Given the description of an element on the screen output the (x, y) to click on. 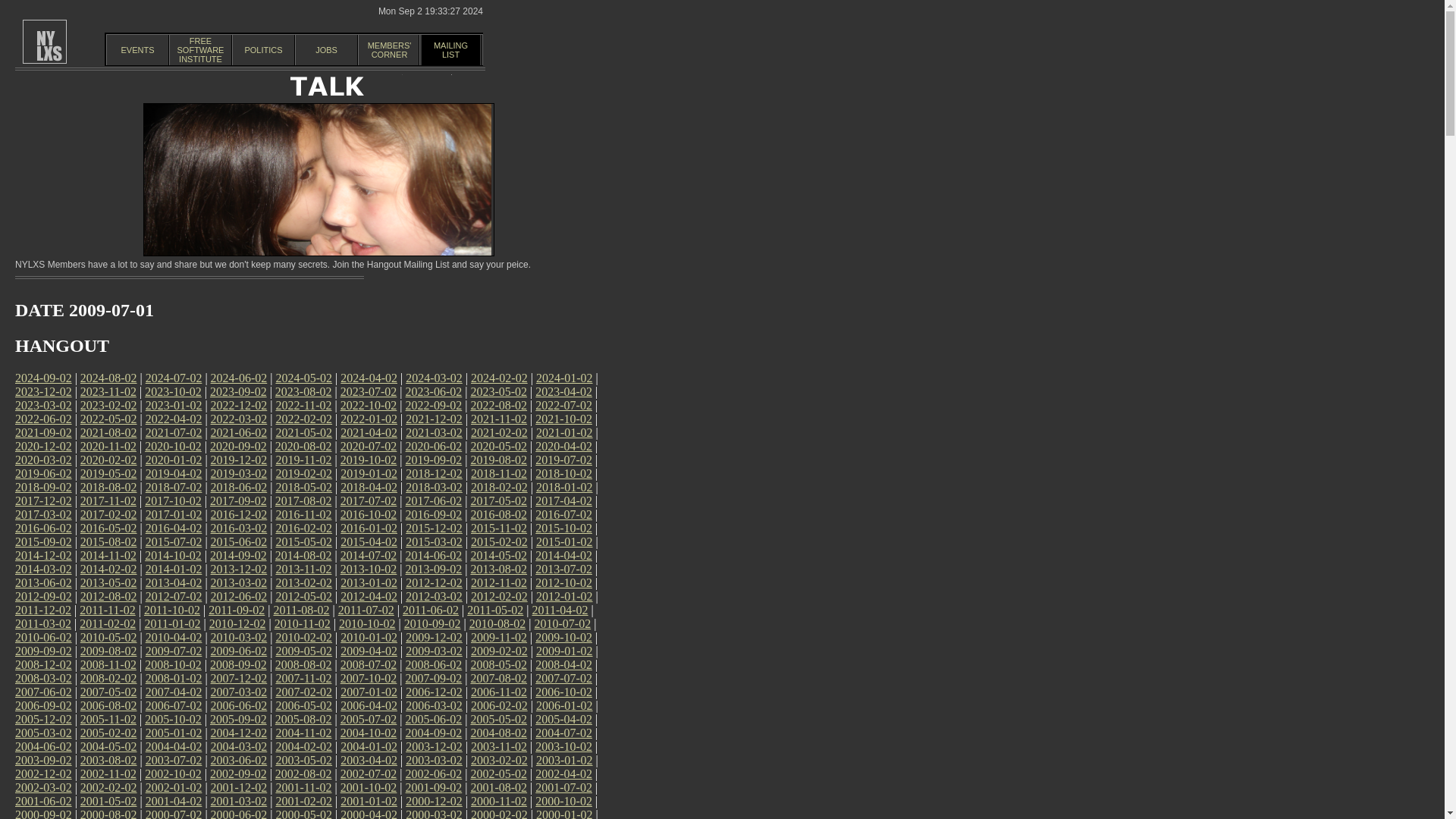
2022-01-02 (368, 418)
2024-09-02 (42, 377)
2023-04-02 (563, 391)
2023-03-02 (42, 404)
2023-02-02 (108, 404)
EVENTS (137, 49)
2023-09-02 (237, 391)
2022-09-02 (434, 404)
2023-05-02 (200, 49)
